Given the description of an element on the screen output the (x, y) to click on. 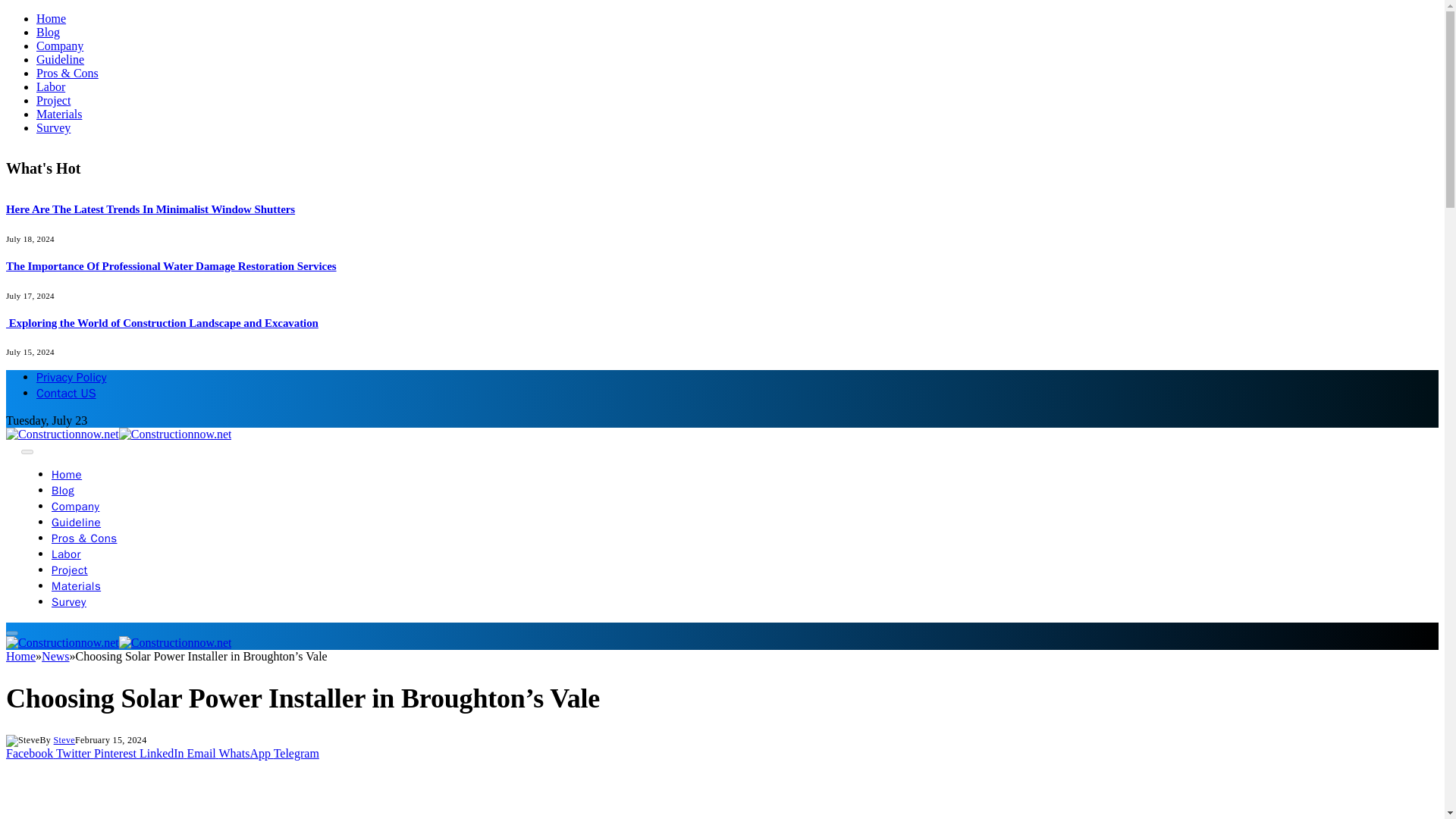
Privacy Policy (71, 377)
Posts by Steve (64, 739)
Home (50, 18)
Facebook (30, 753)
Project (68, 570)
Home (65, 474)
Labor (50, 86)
Constructionnow.net (118, 433)
Share on Pinterest (116, 753)
Constructionnow.net (118, 642)
Here Are The Latest Trends In Minimalist Window Shutters (150, 209)
Blog (47, 31)
Twitter (75, 753)
Materials (75, 585)
